Given the description of an element on the screen output the (x, y) to click on. 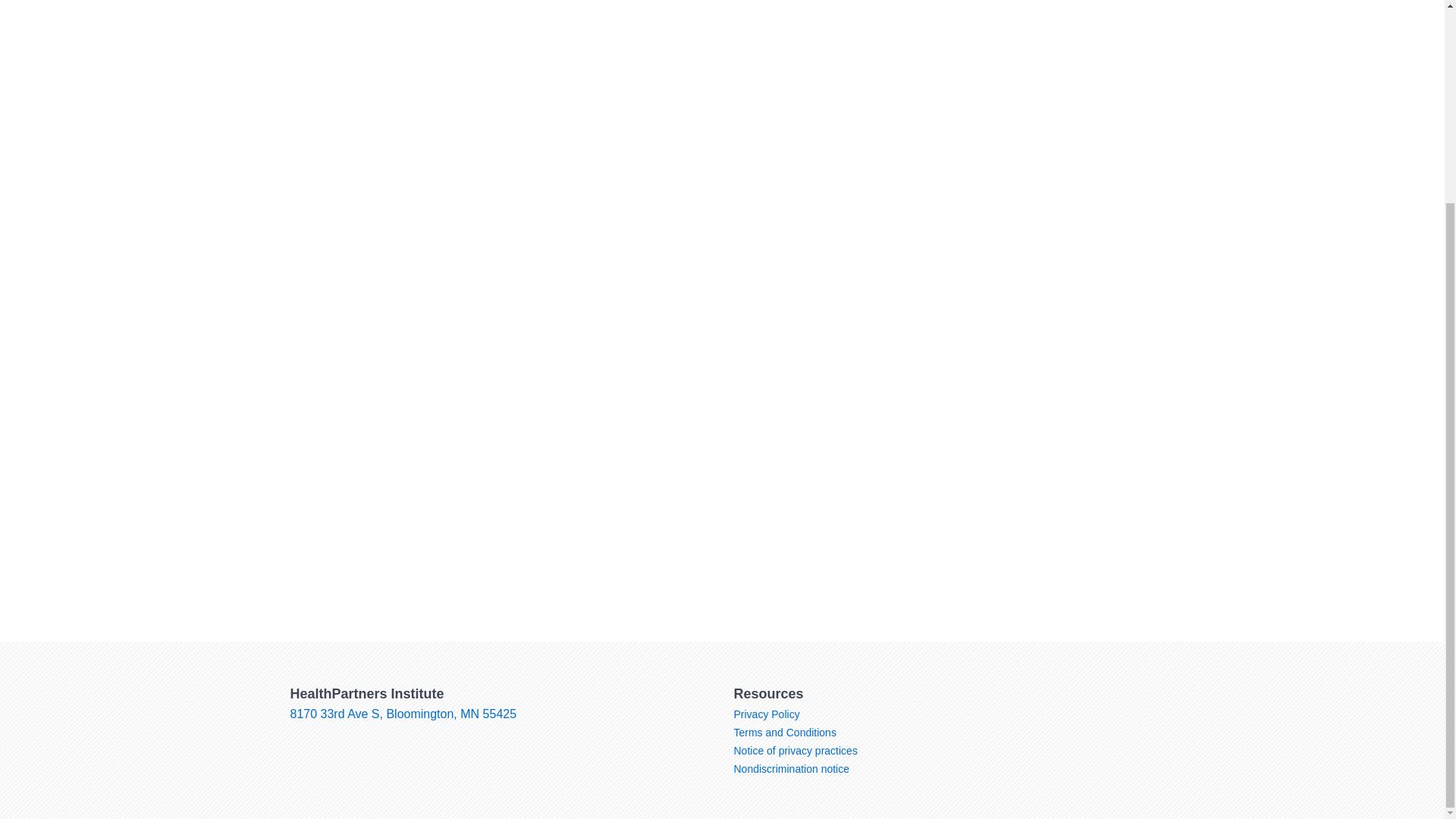
Terms and Conditions (784, 732)
Privacy Policy (766, 714)
Nondiscrimination notice (791, 768)
Notice of privacy practices (795, 750)
8170 33rd Ave S, Bloomington, MN 55425 (402, 713)
